Given the description of an element on the screen output the (x, y) to click on. 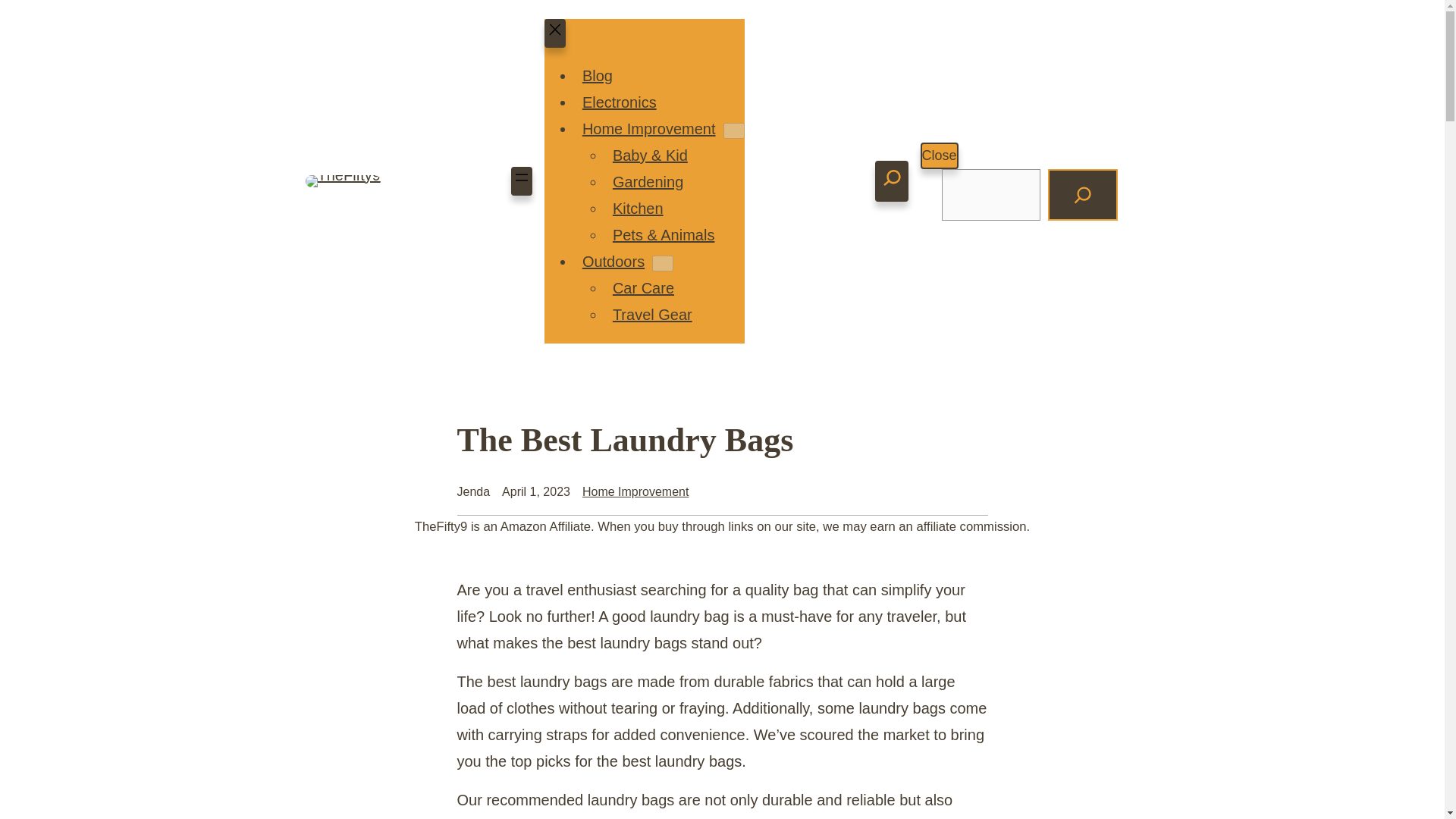
Electronics (619, 102)
Home Improvement (635, 491)
Travel Gear (652, 314)
Gardening (647, 181)
Blog (597, 75)
Car Care (643, 288)
Kitchen (638, 208)
Close (939, 155)
Home Improvement (649, 128)
Outdoors (613, 261)
